Given the description of an element on the screen output the (x, y) to click on. 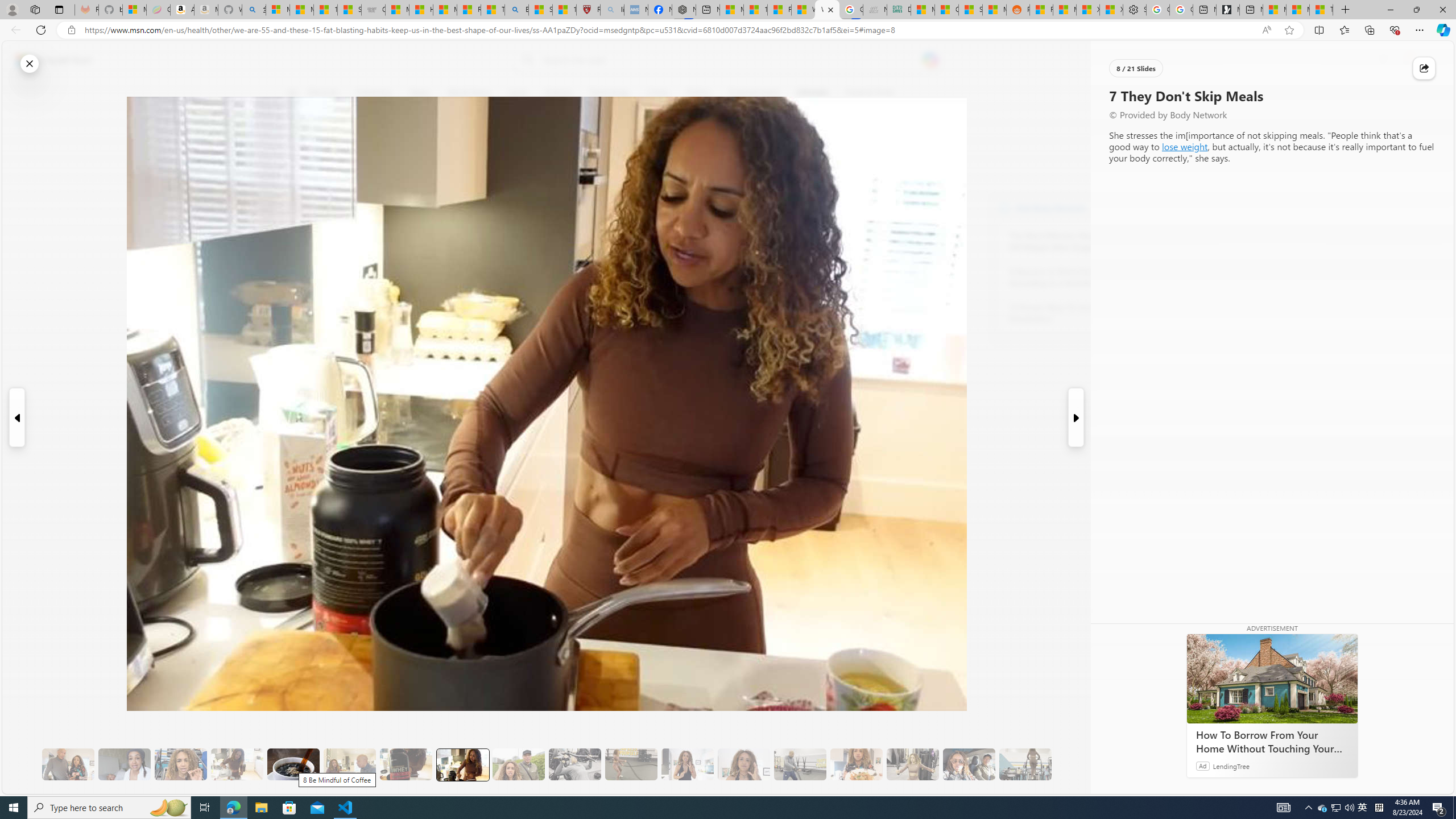
12 Popular Science Lies that Must be Corrected (563, 9)
6 Since Eating More Protein Her Training Has Improved (406, 764)
Close (29, 63)
News (419, 92)
15 They Also Indulge in a Low-Calorie Sweet Treat (912, 764)
16 The Couple's Program Helps with Accountability (968, 764)
Microsoft Start Gaming (1227, 9)
6 Like (299, 138)
Go to publisher's site (830, 146)
13 Her Husband Does Group Cardio Classs (800, 764)
2 They Use Protein Powder for Flavor (180, 764)
Open navigation menu (292, 92)
NCL Adult Asthma Inhaler Choice Guideline - Sleeping (635, 9)
